Given the description of an element on the screen output the (x, y) to click on. 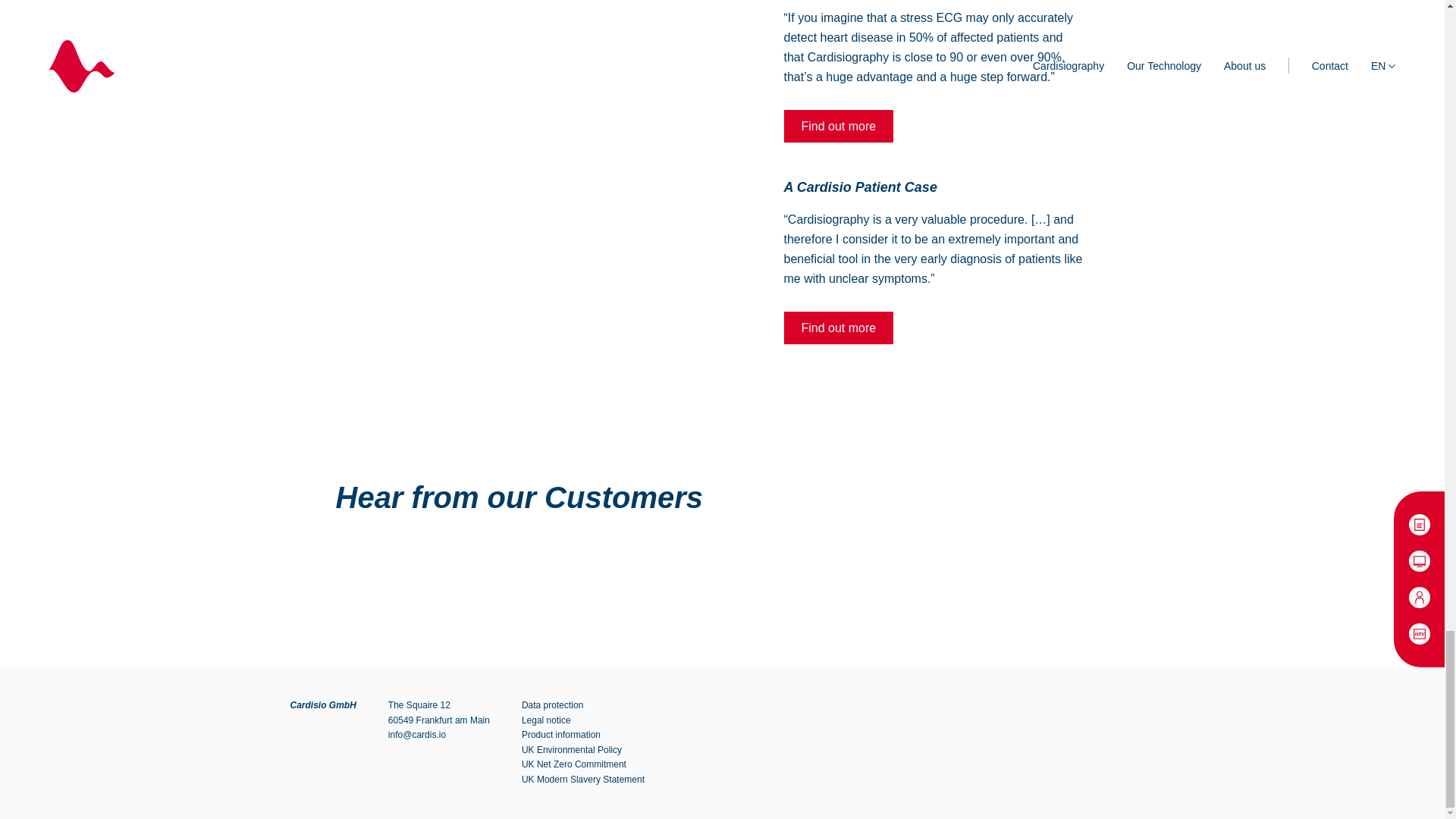
UK Environmental Policy (571, 749)
Legal notice (545, 719)
Instagram (1005, 743)
Find out more (838, 125)
Find out more (838, 327)
UK Modern Slavery Statement (583, 778)
Data protection (552, 705)
UK Net Zero Commitment (573, 764)
Product information (560, 734)
